Given the description of an element on the screen output the (x, y) to click on. 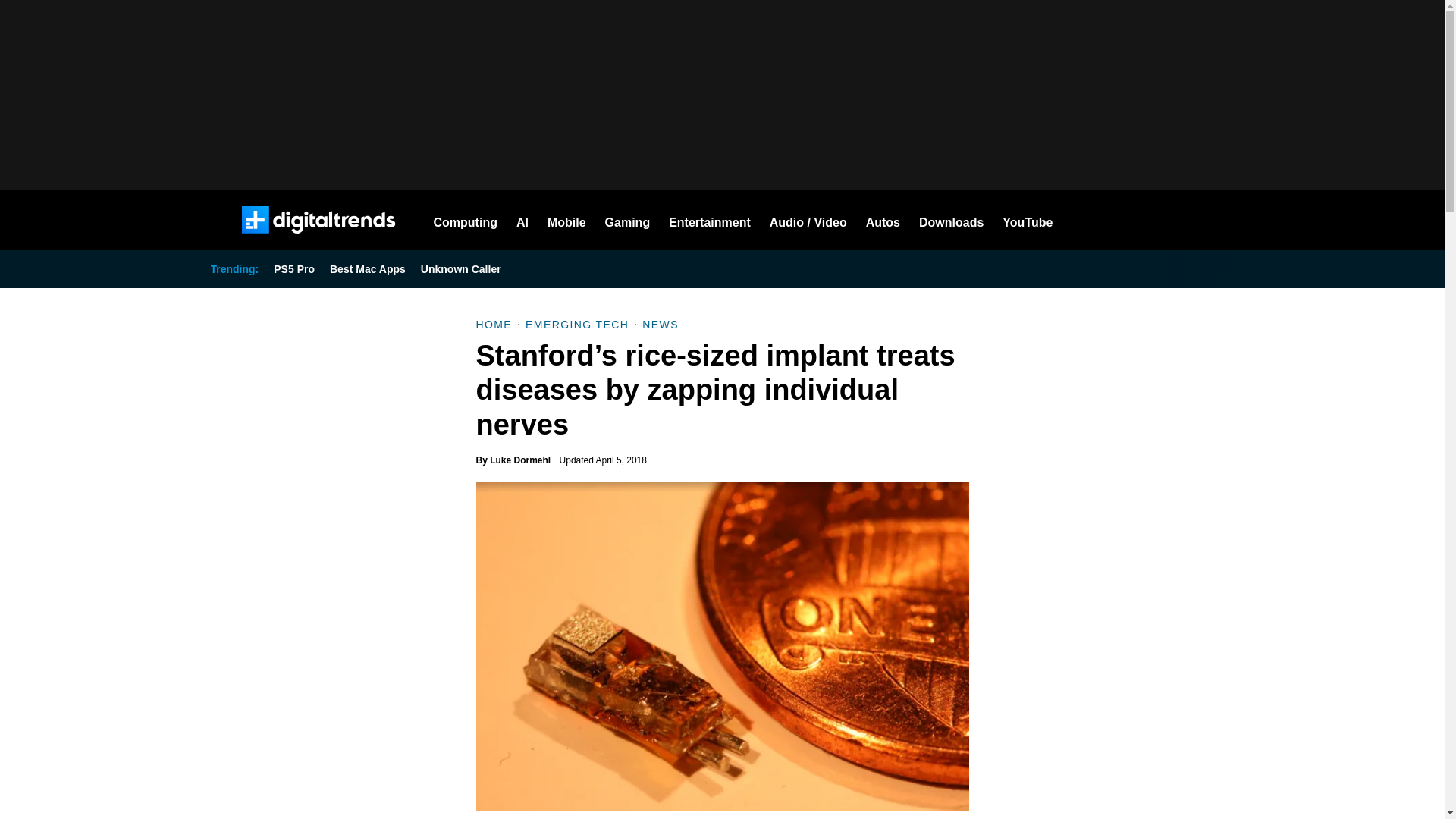
Entertainment (709, 219)
Downloads (951, 219)
Computing (465, 219)
